Given the description of an element on the screen output the (x, y) to click on. 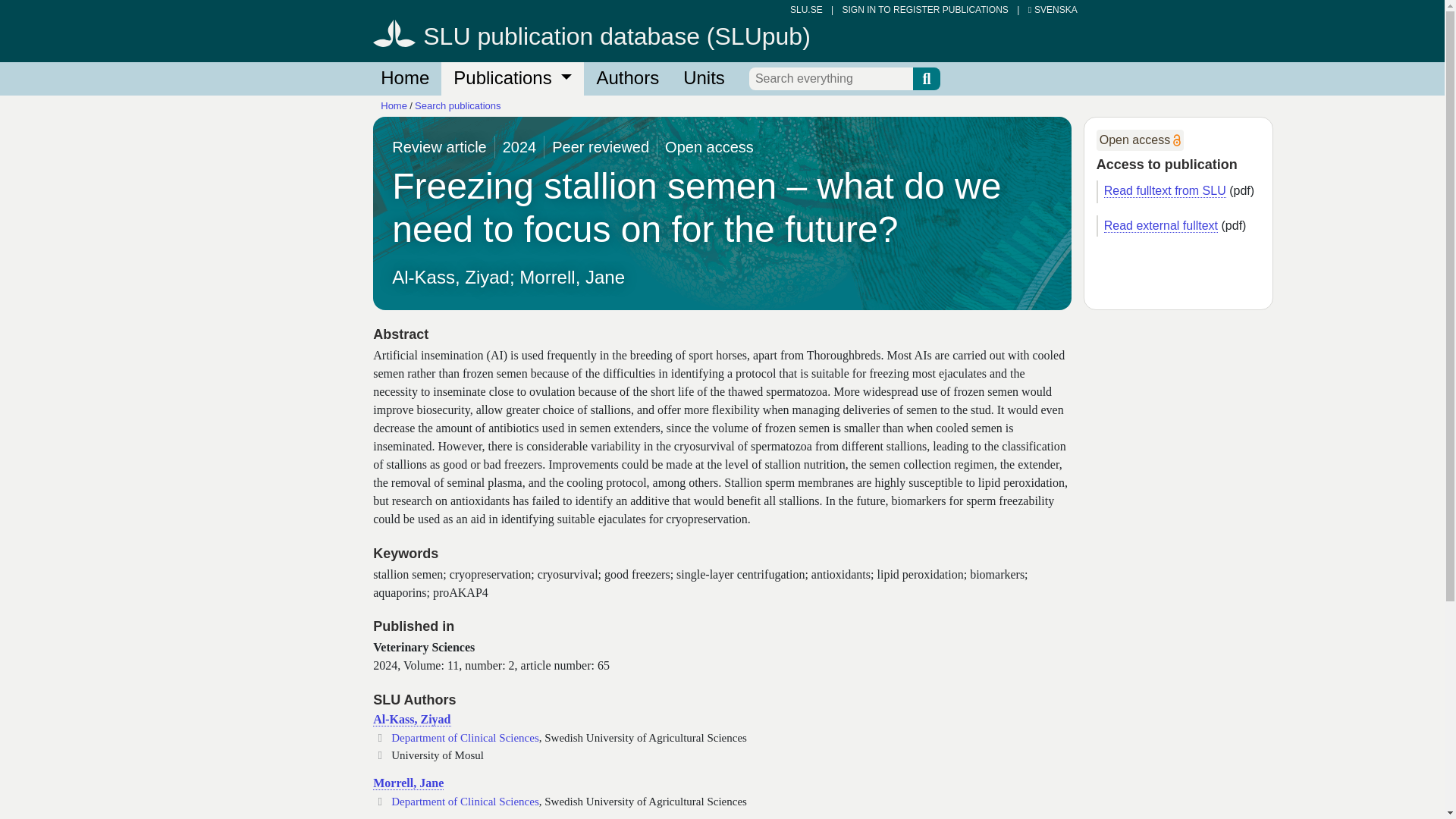
Morrell, Jane (408, 783)
SIGN IN TO REGISTER PUBLICATIONS (924, 9)
Read external fulltext (1160, 225)
Search publications (457, 105)
Publications (512, 78)
Home (404, 78)
Authors (627, 78)
Al-Kass, Ziyad (410, 719)
Home (393, 105)
SVENSKA (1052, 9)
Search (926, 78)
Department of Clinical Sciences (464, 801)
Read fulltext from SLU (1164, 191)
Units (703, 78)
Department of Clinical Sciences (464, 737)
